Given the description of an element on the screen output the (x, y) to click on. 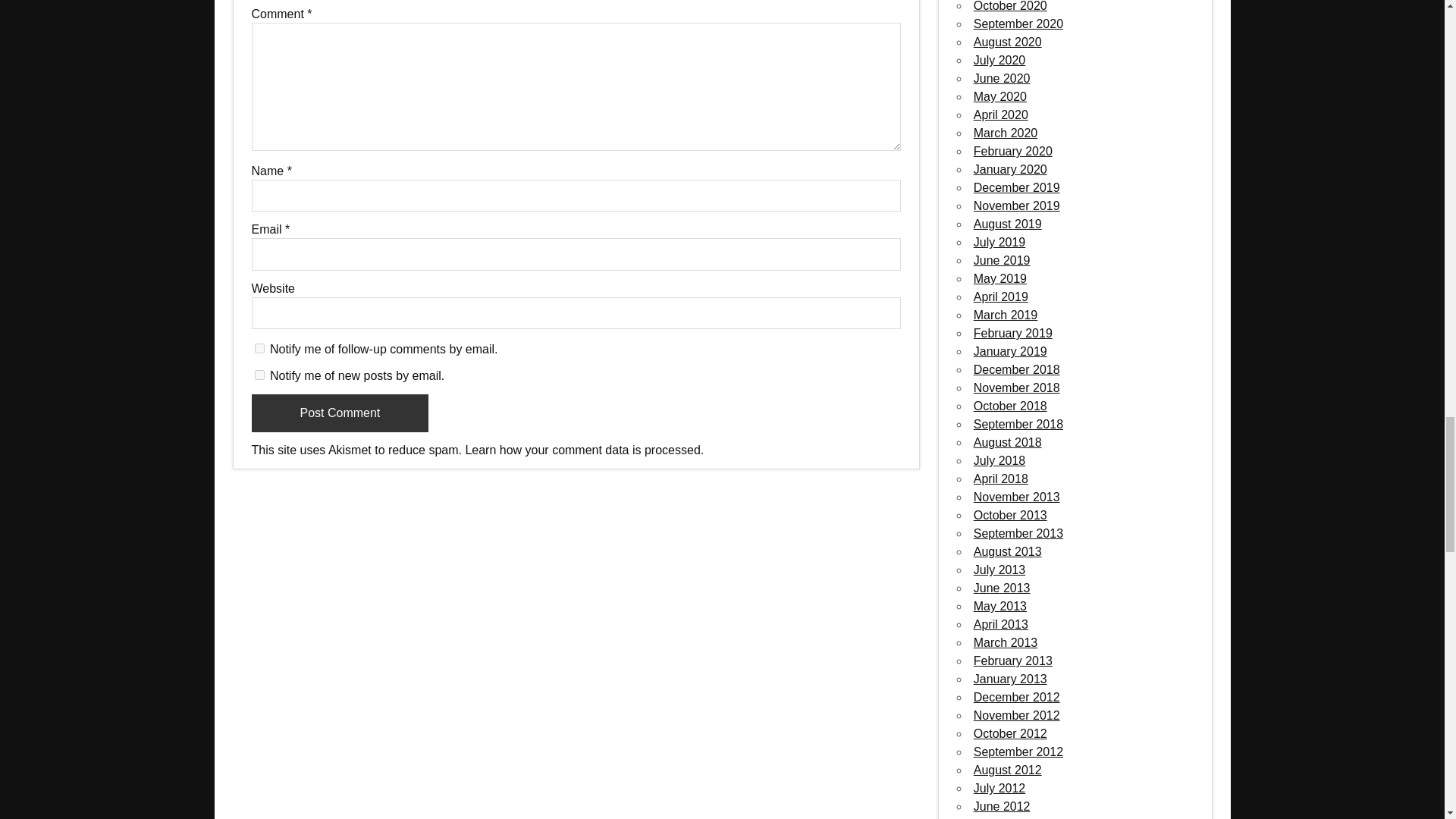
subscribe (259, 347)
Post Comment (340, 412)
subscribe (259, 375)
